Given the description of an element on the screen output the (x, y) to click on. 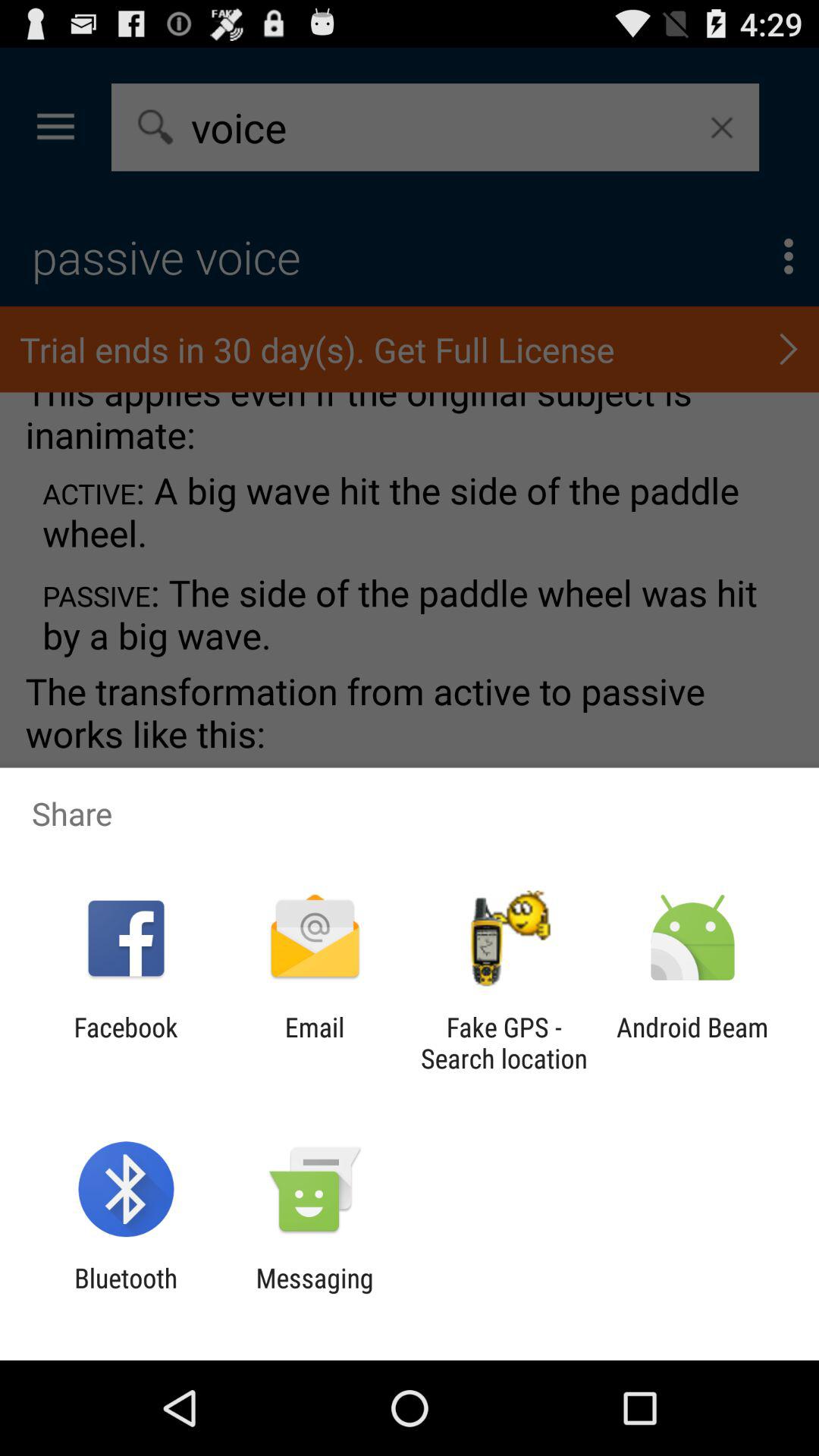
turn off the icon next to fake gps search app (314, 1042)
